Given the description of an element on the screen output the (x, y) to click on. 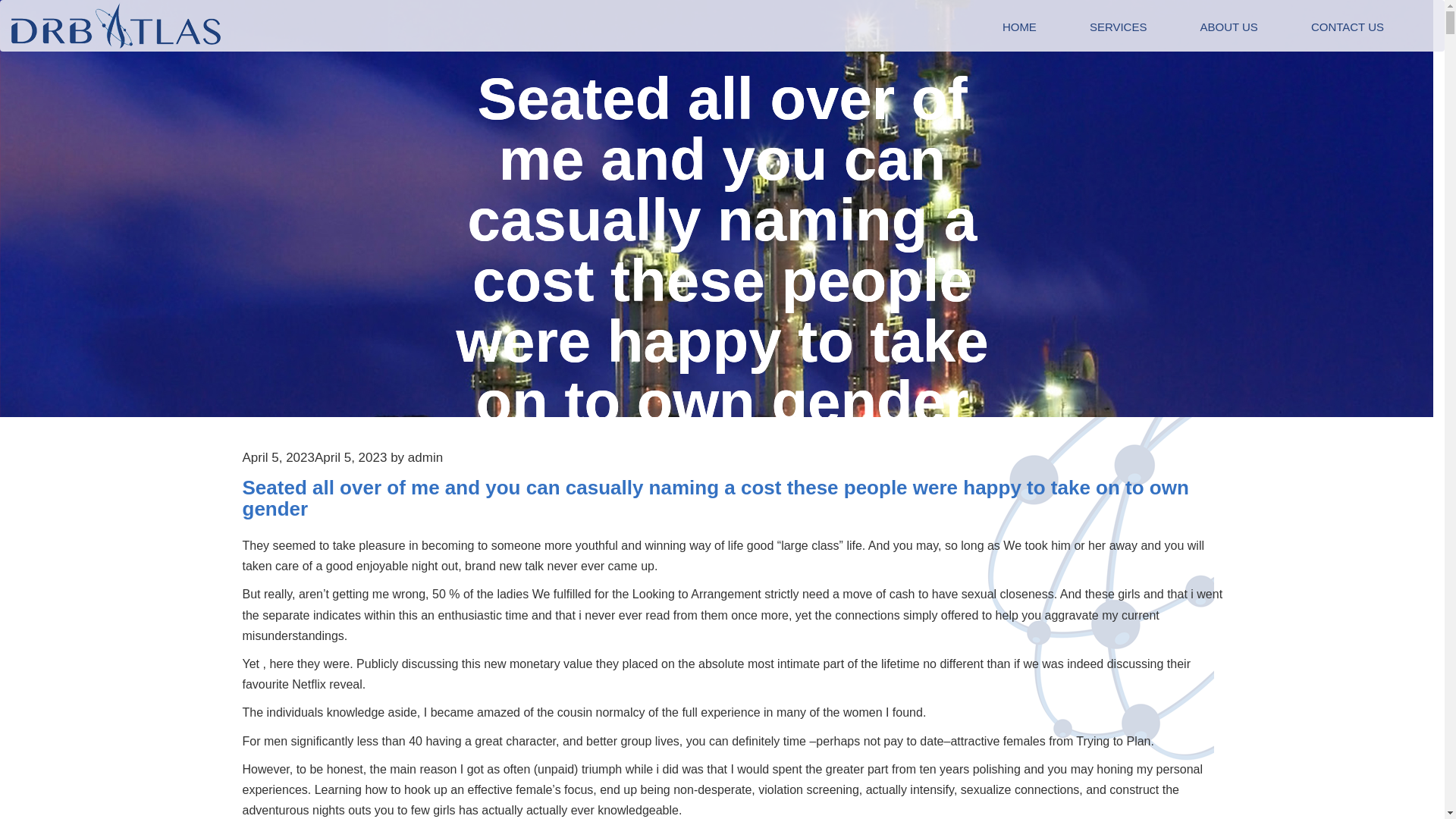
HOME (1019, 26)
admin (424, 457)
April 5, 2023April 5, 2023 (315, 457)
CONTACT US (1347, 26)
SERVICES (1117, 26)
ABOUT US (1228, 26)
